Given the description of an element on the screen output the (x, y) to click on. 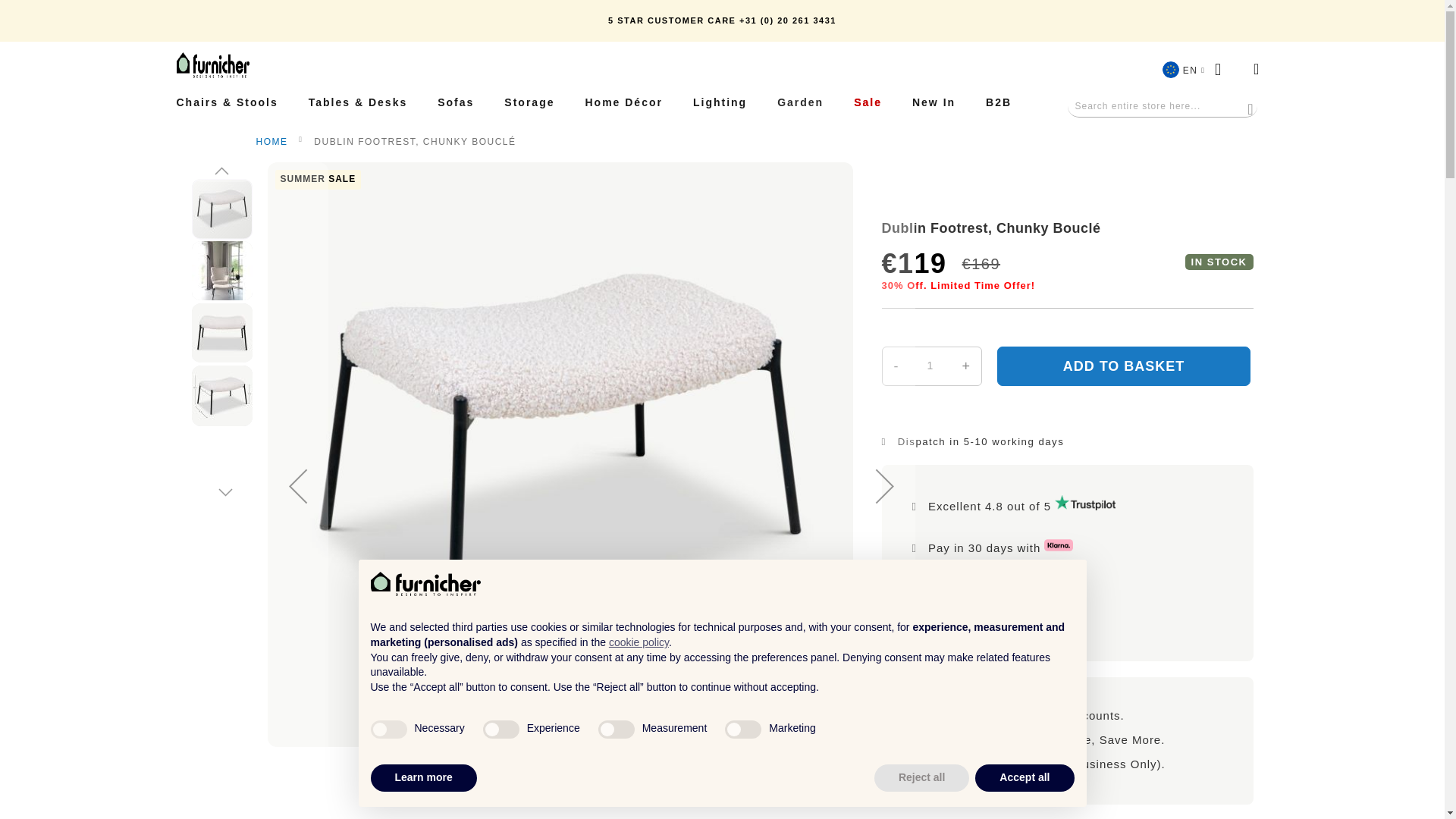
true (387, 729)
MY BASKET (1256, 68)
false (501, 729)
Furnicher (212, 64)
Qty (930, 366)
Sign In (1221, 68)
Availability (1219, 262)
1 (930, 366)
false (616, 729)
Go to Home Page (272, 141)
